Given the description of an element on the screen output the (x, y) to click on. 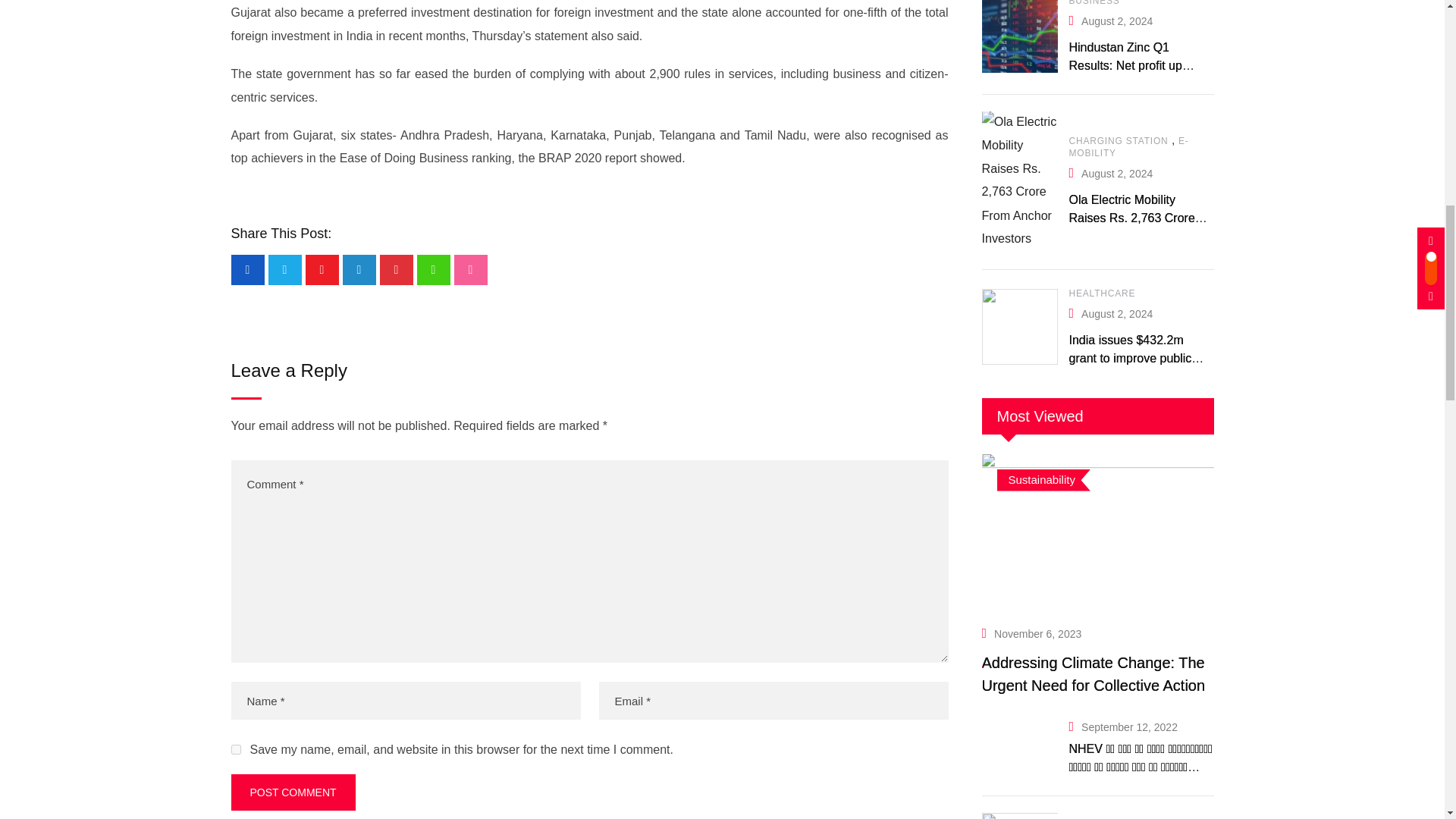
yes (235, 749)
Post Comment (292, 791)
